Given the description of an element on the screen output the (x, y) to click on. 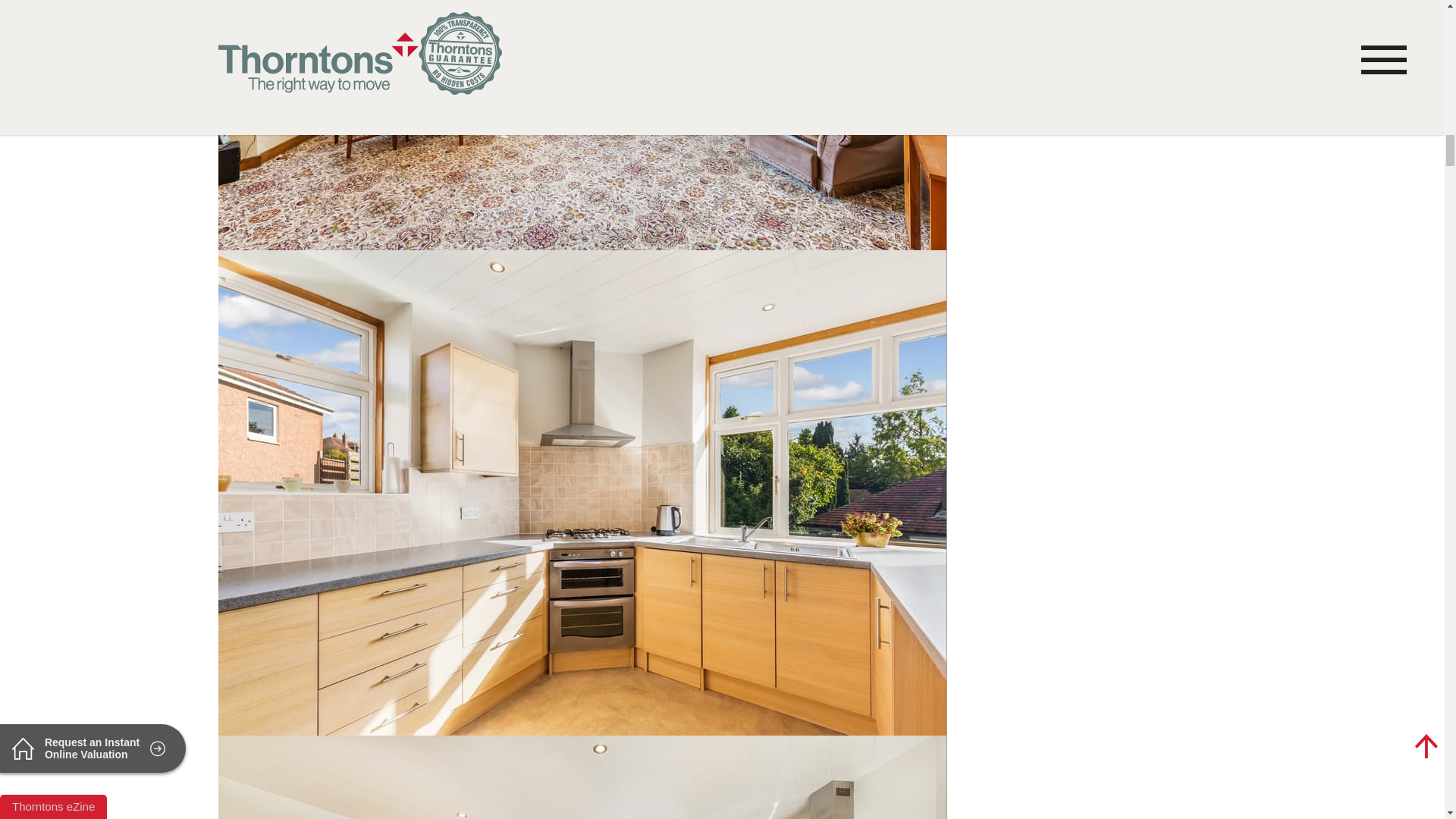
Picture 9 of 24 (582, 777)
